Given the description of an element on the screen output the (x, y) to click on. 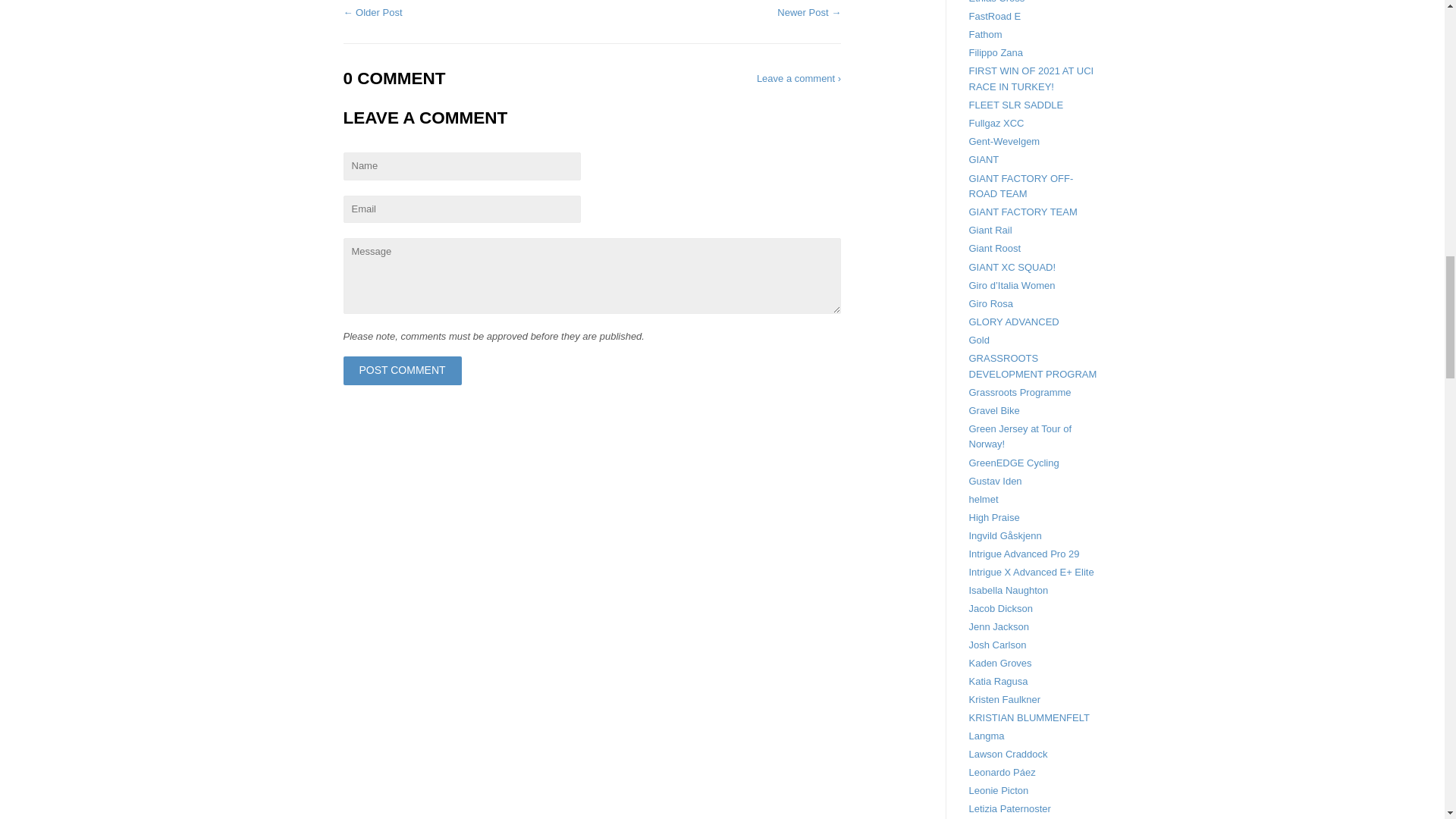
Post comment (401, 370)
